Given the description of an element on the screen output the (x, y) to click on. 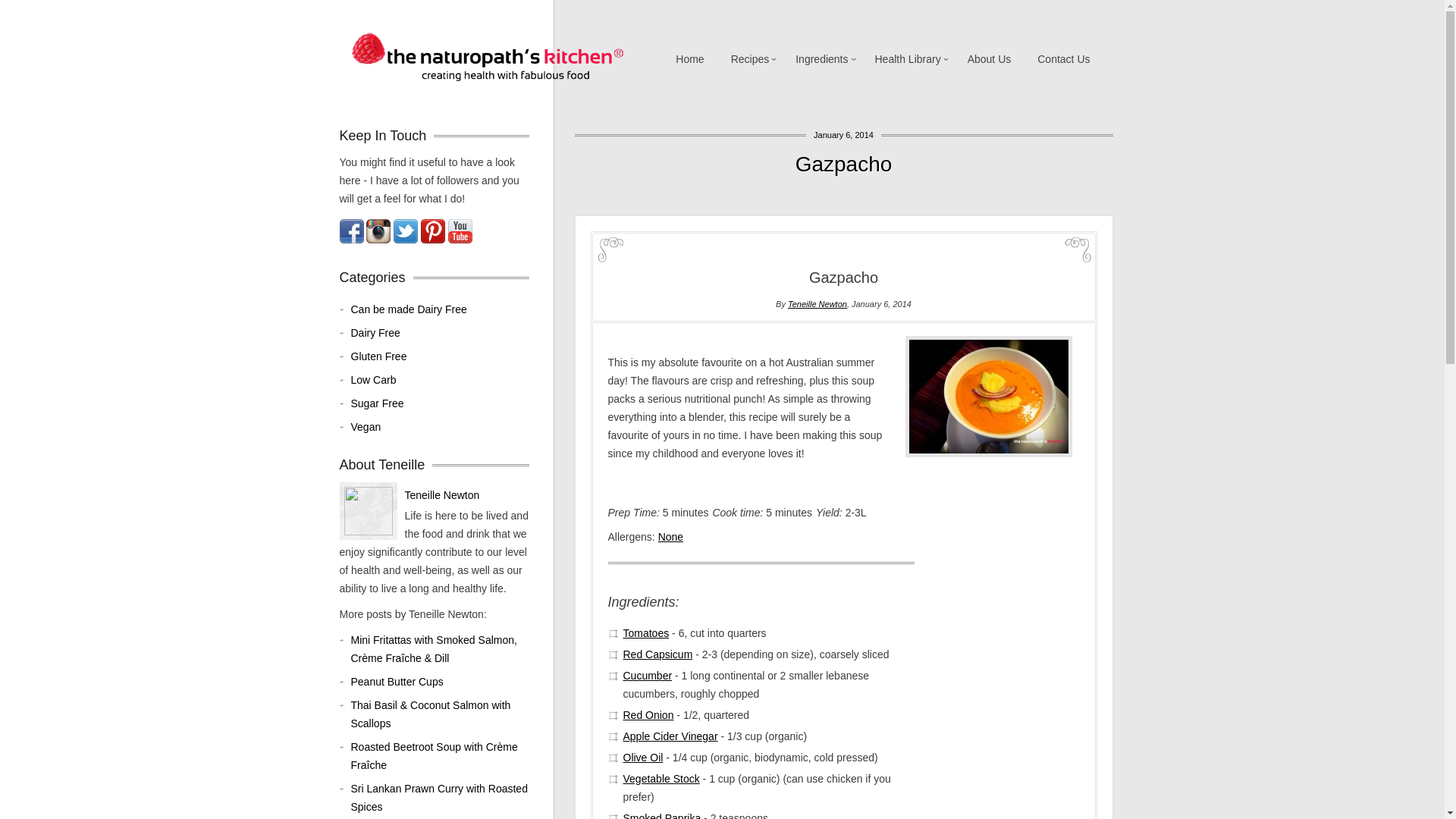
Sri Lankan Prawn Curry with Roasted Spices Element type: text (439, 797)
Tomatoes Element type: text (646, 633)
Dairy Free Element type: text (439, 332)
Red Onion Element type: text (648, 715)
Peanut Butter Cups Element type: text (439, 681)
Contact Us Element type: text (1063, 58)
Cucumber Element type: text (647, 675)
Teneille Newton Element type: text (817, 303)
January 6, 2014 Element type: text (843, 134)
Can be made Dairy Free Element type: text (439, 309)
Recipes Element type: text (750, 58)
Vegetable Stock Element type: text (661, 778)
Home Element type: text (689, 58)
Gluten Free Element type: text (439, 356)
Ingredients Element type: text (821, 58)
Sugar Free Element type: text (439, 403)
Red Capsicum Element type: text (658, 654)
Low Carb Element type: text (439, 379)
Teneille Newton Element type: text (442, 495)
Olive Oil Element type: text (643, 757)
About Us Element type: text (989, 58)
Thai Basil & Coconut Salmon with Scallops Element type: text (439, 714)
Health Library Element type: text (906, 58)
Apple Cider Vinegar Element type: text (670, 736)
Vegan Element type: text (439, 426)
None Element type: text (670, 536)
Gazpacho Element type: text (843, 163)
The Naturopaths Kitchen Element type: text (487, 57)
